Given the description of an element on the screen output the (x, y) to click on. 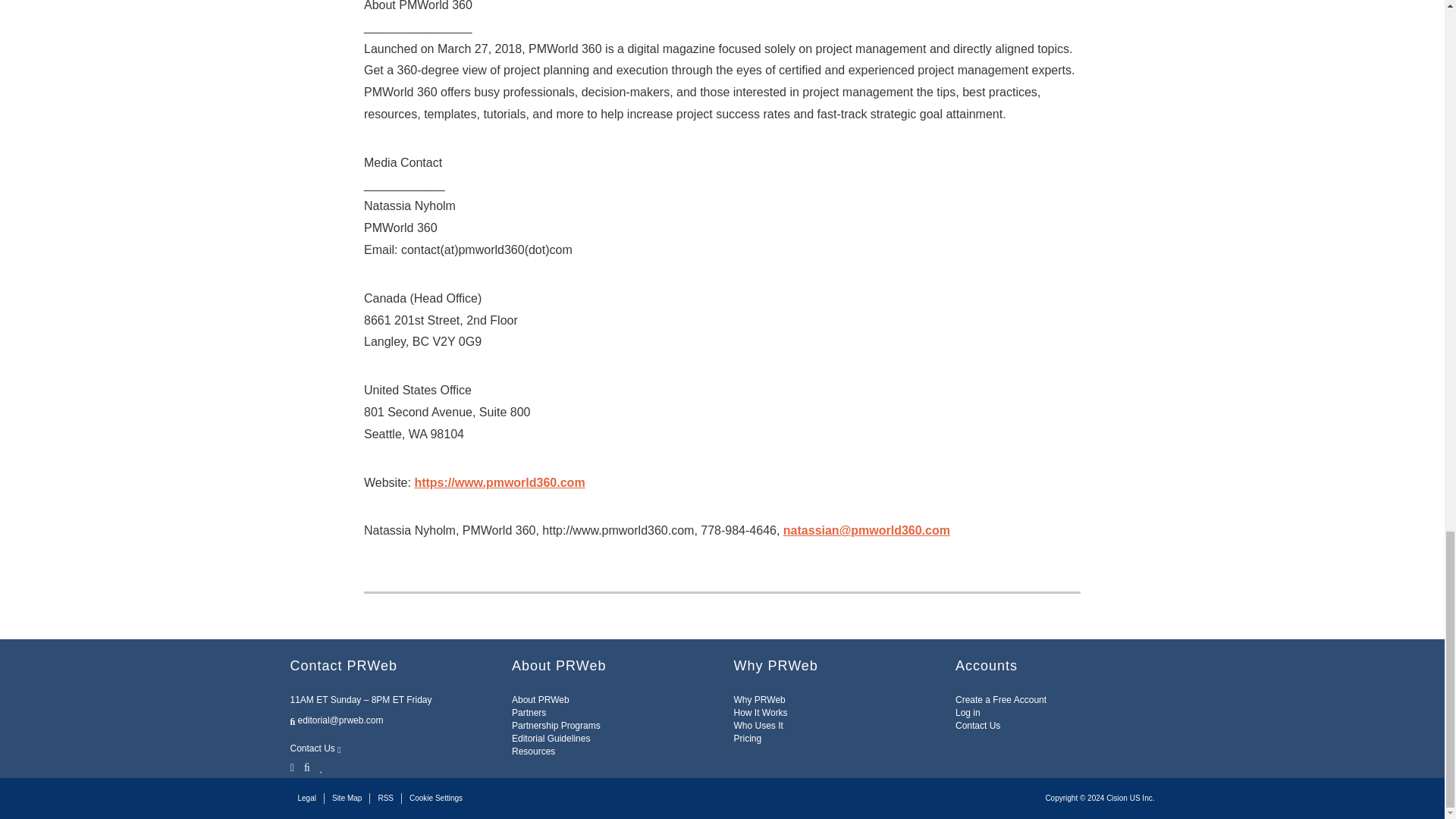
Partners (529, 712)
About PRWeb (540, 699)
Facebook (306, 766)
